Given the description of an element on the screen output the (x, y) to click on. 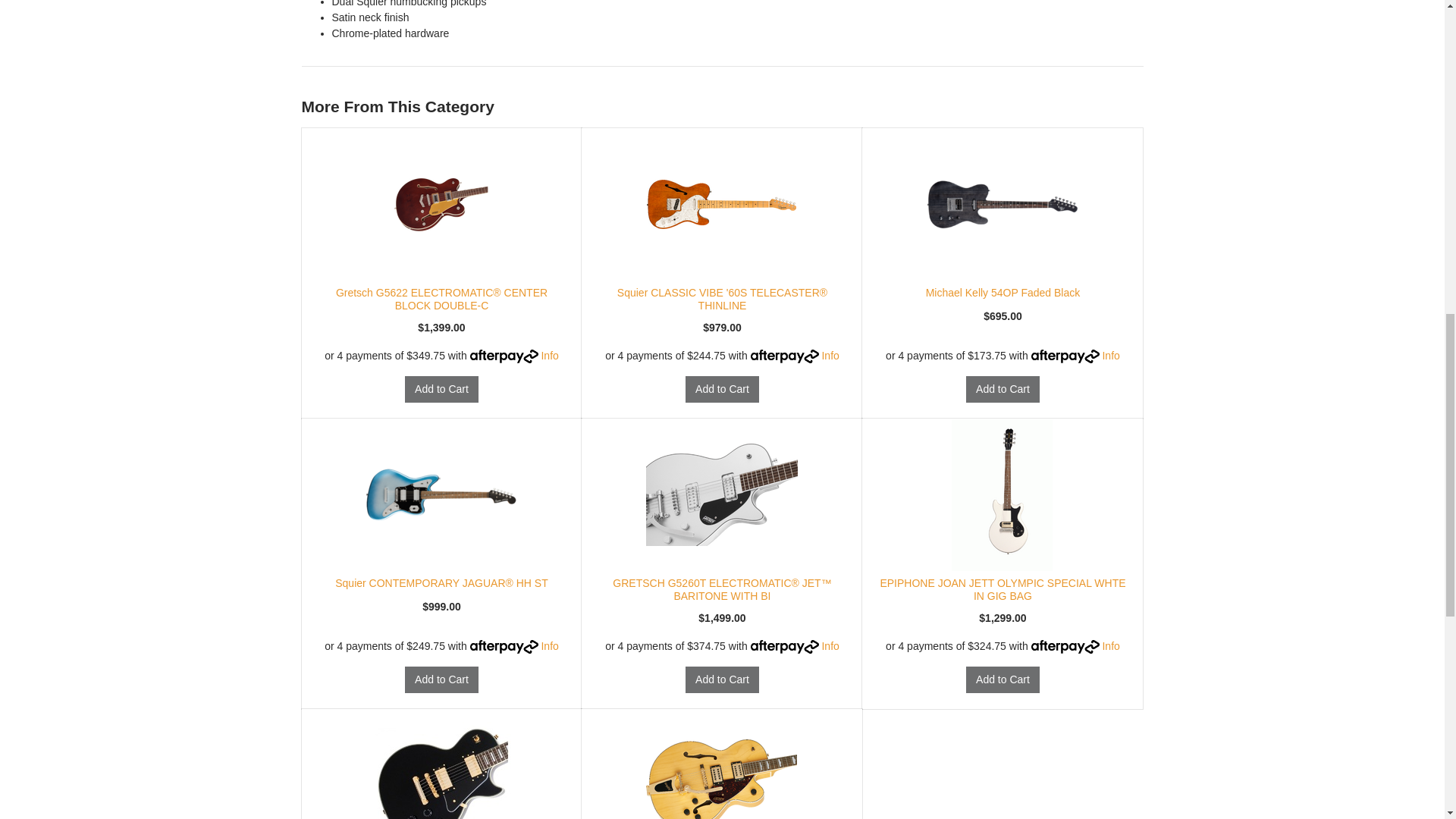
Add Michael Kelly 54OP Faded Black to Cart (1002, 388)
